Given the description of an element on the screen output the (x, y) to click on. 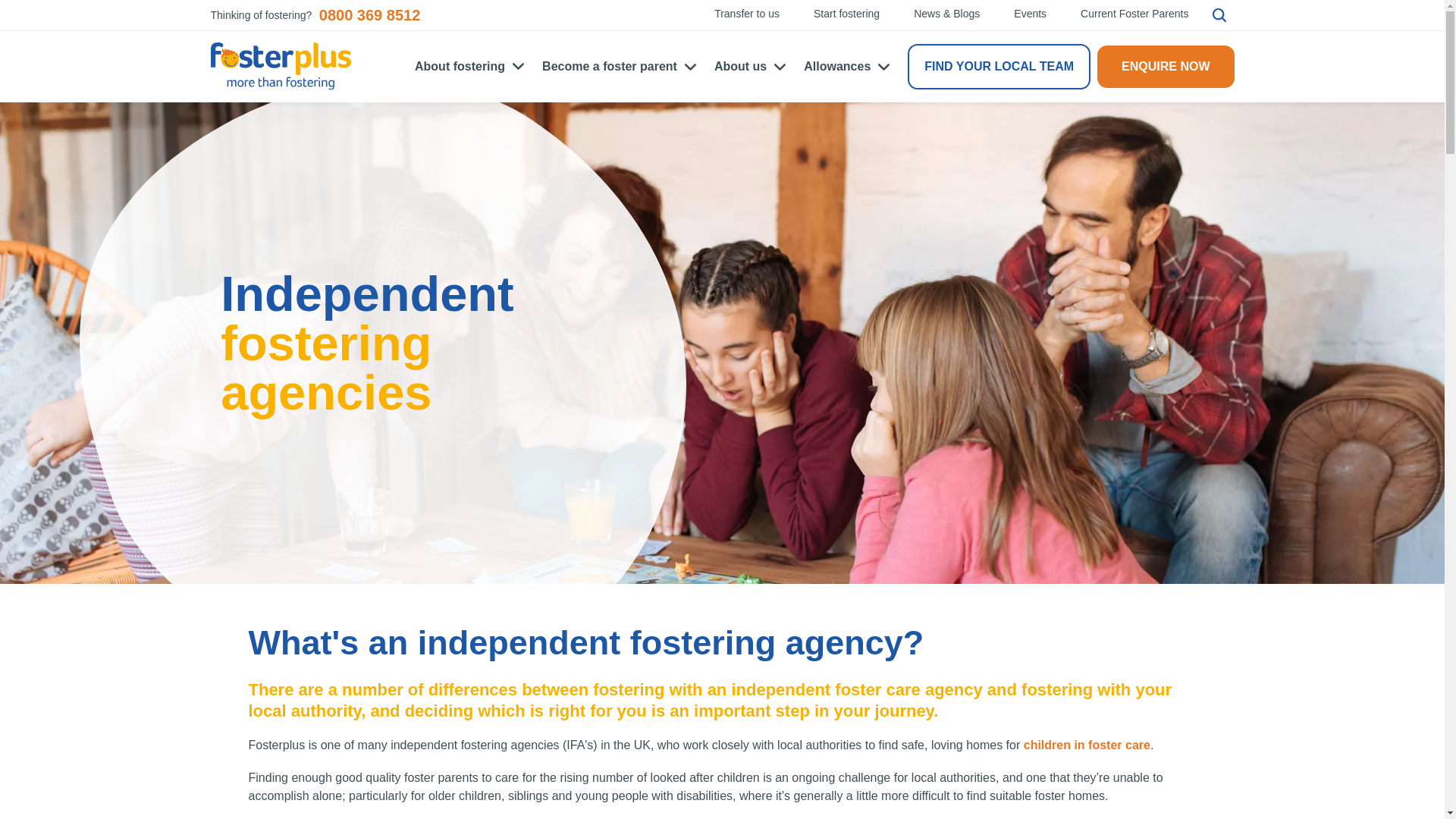
Home (280, 66)
Events (1029, 13)
Current Foster Parents (1134, 13)
About fostering (469, 66)
Become a foster parent (619, 66)
Start fostering (846, 13)
Start fostering (846, 13)
Events (1029, 13)
SEARCH (1219, 15)
Transfer to us (746, 13)
